Given the description of an element on the screen output the (x, y) to click on. 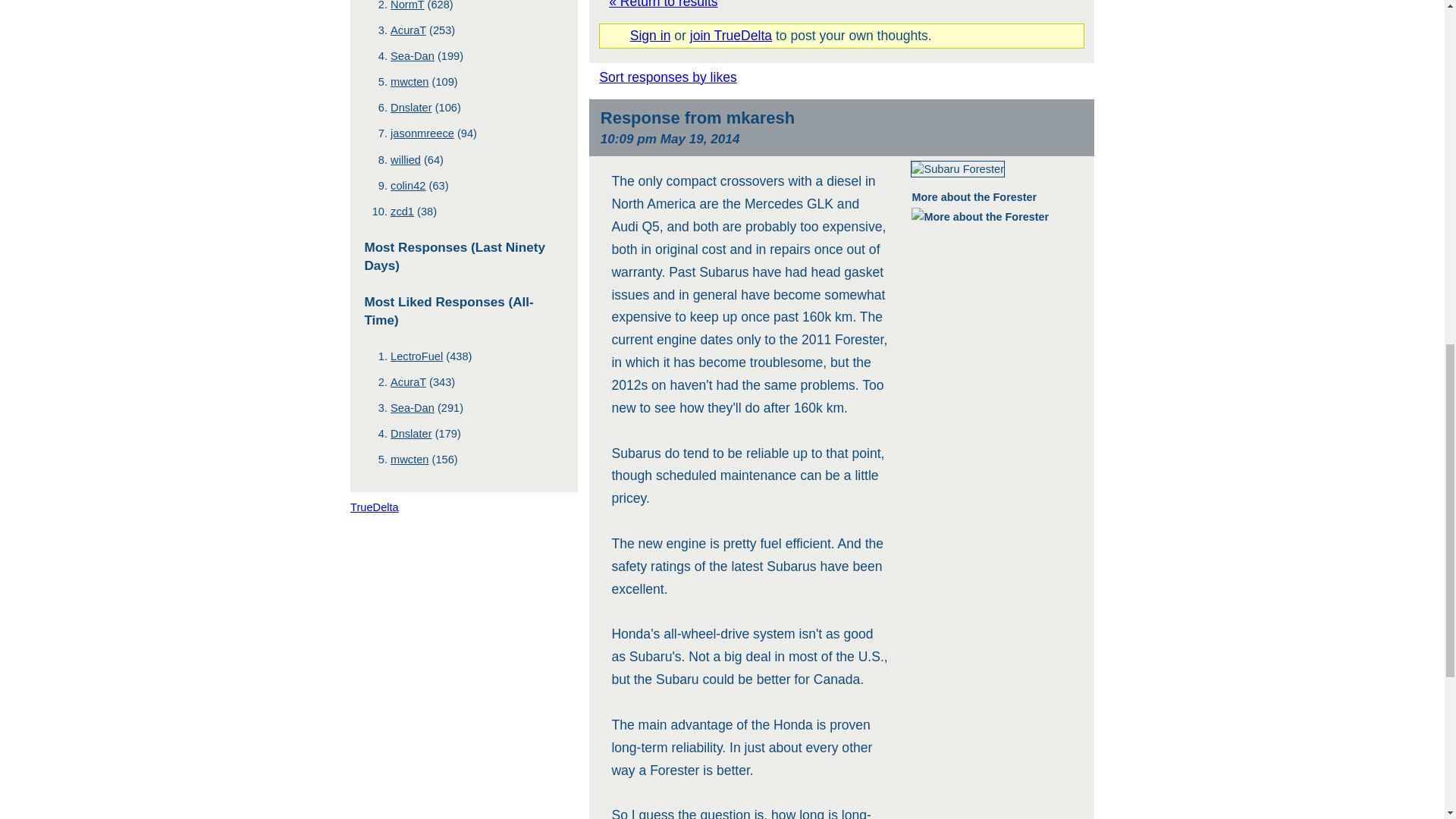
Sign in (650, 35)
Return to the previous page (662, 4)
join TrueDelta (730, 35)
Sort responses by likes (667, 77)
